Given the description of an element on the screen output the (x, y) to click on. 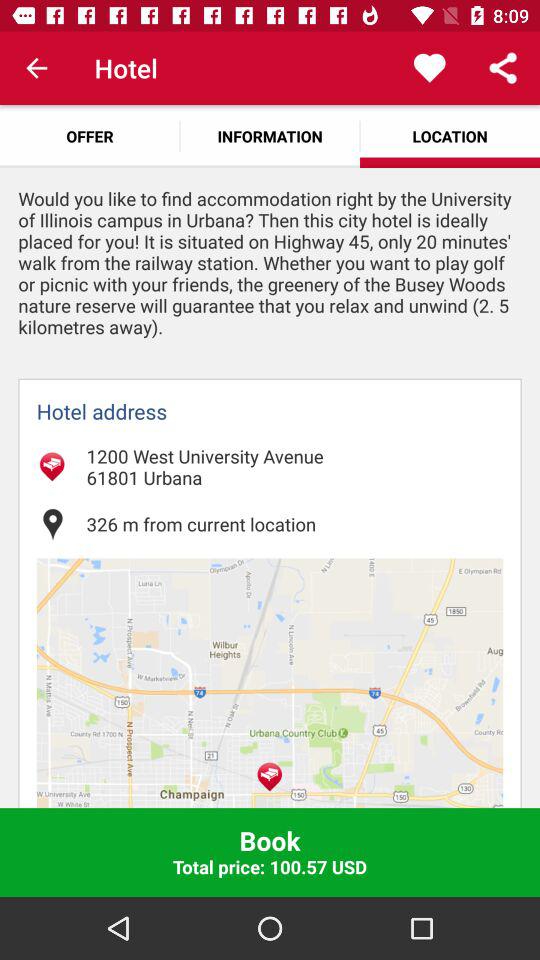
press app to the right of offer item (270, 136)
